Given the description of an element on the screen output the (x, y) to click on. 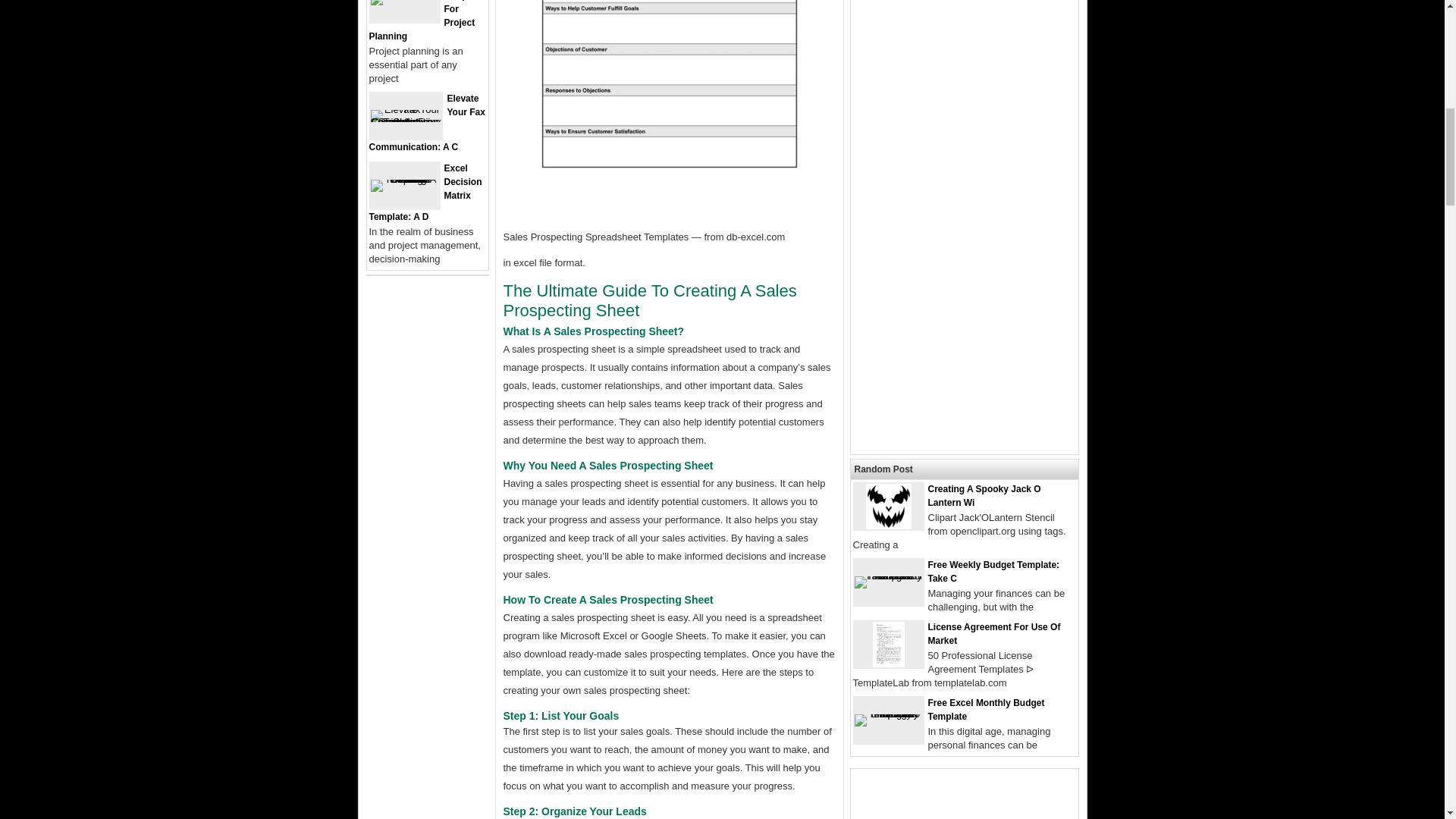
Excel Template For Project Planning (425, 20)
